Given the description of an element on the screen output the (x, y) to click on. 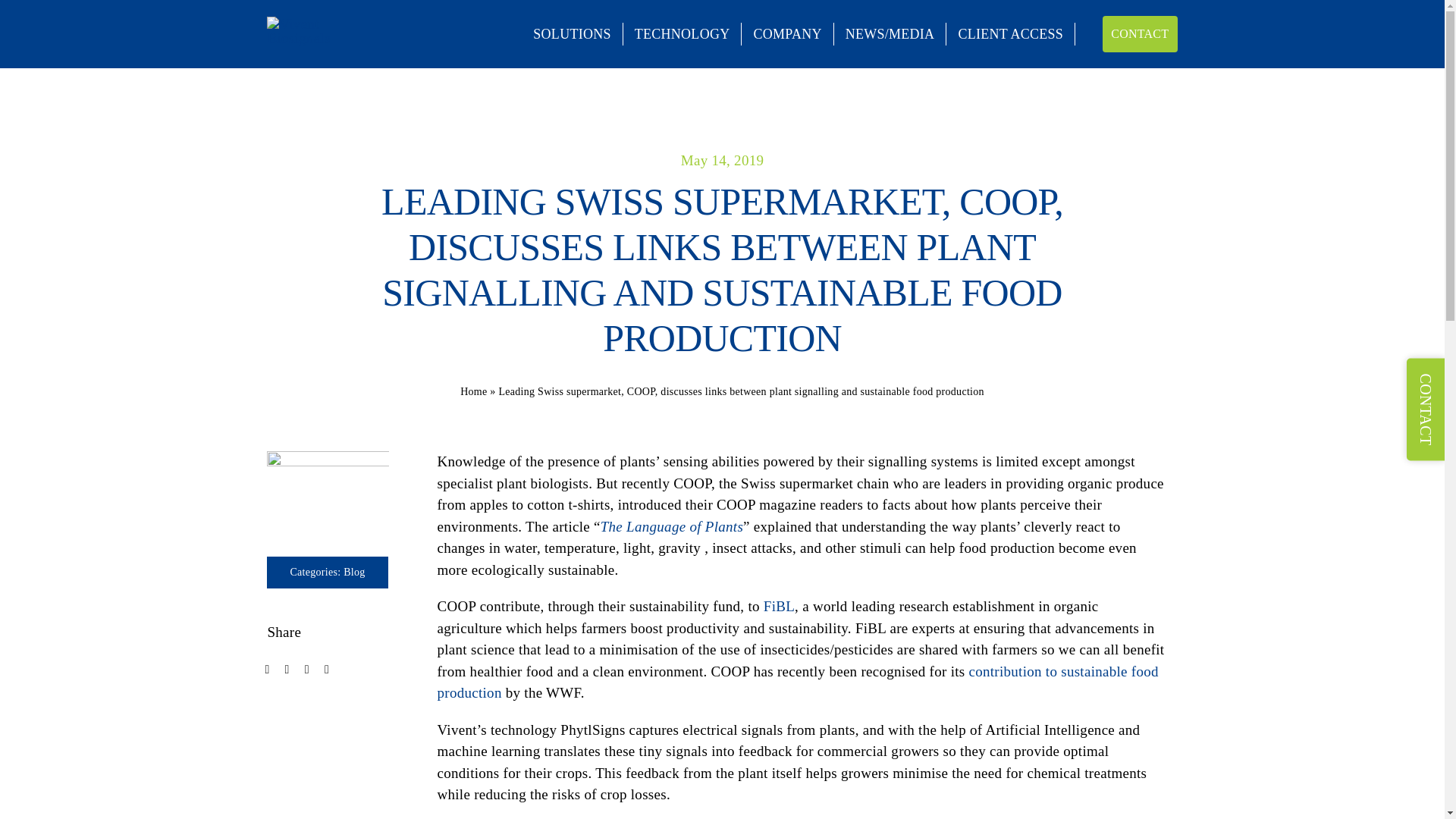
Facebook (266, 669)
Home (473, 391)
COMPANY (786, 33)
contribution to sustainable food production (796, 682)
FiBL (778, 606)
SOLUTIONS (572, 33)
LinkedIn (326, 669)
CLIENT ACCESS (1010, 33)
TECHNOLOGY (682, 33)
Blog (354, 572)
